Given the description of an element on the screen output the (x, y) to click on. 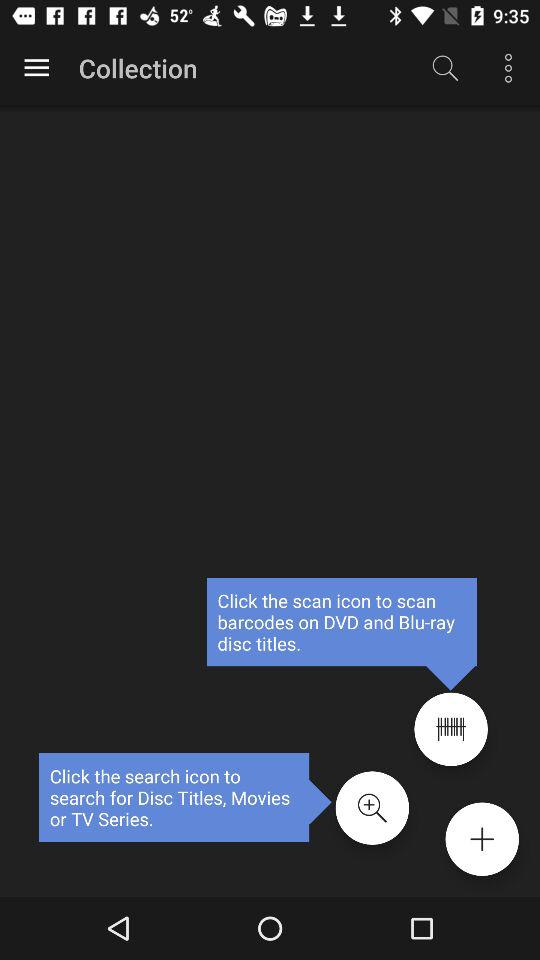
search (372, 807)
